Given the description of an element on the screen output the (x, y) to click on. 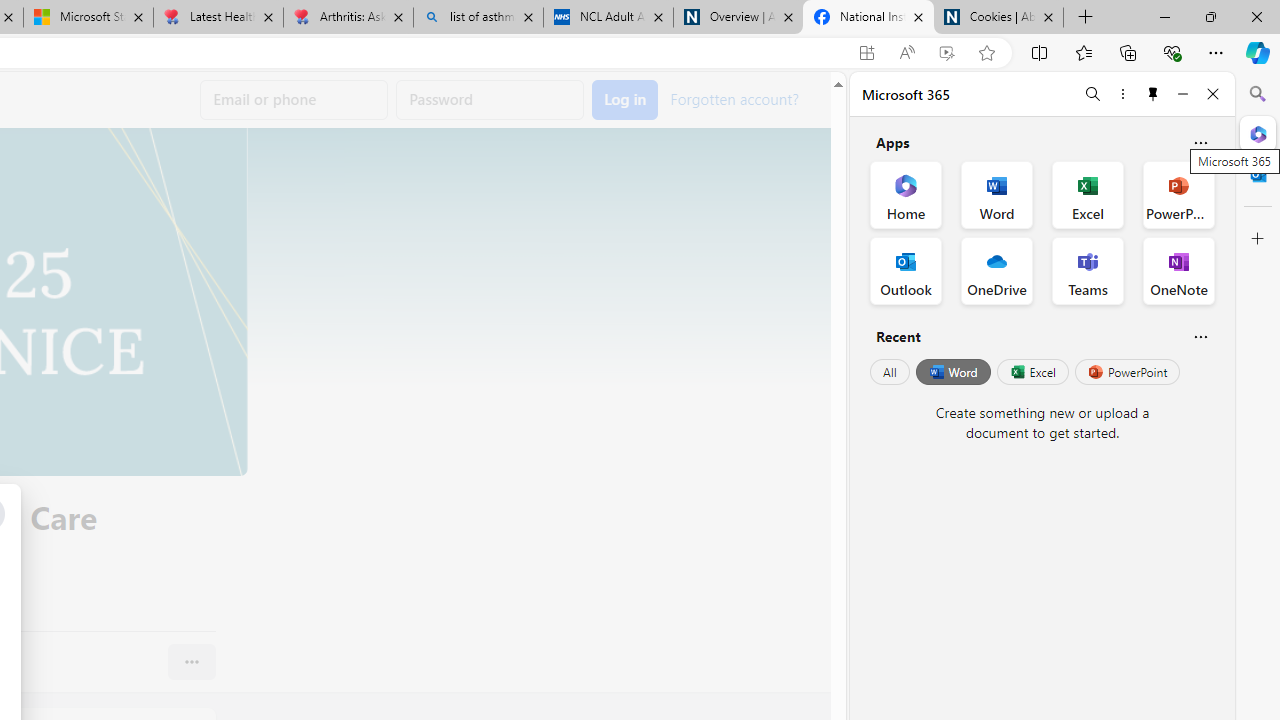
Enhance video (946, 53)
Excel (1031, 372)
Accessible login button (625, 99)
App available. Install Facebook (867, 53)
OneNote Office App (1178, 270)
Excel Office App (1087, 194)
